Given the description of an element on the screen output the (x, y) to click on. 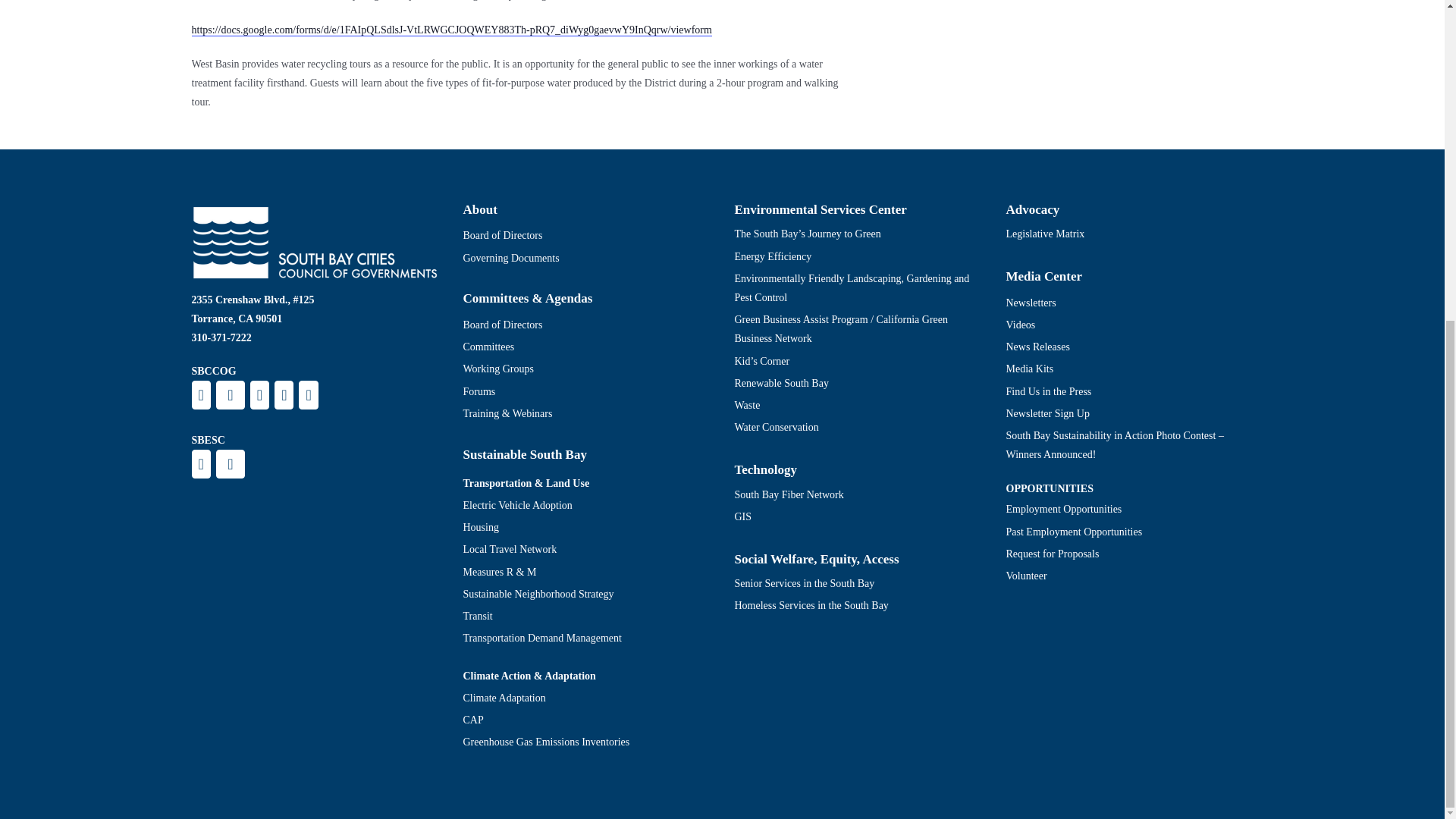
Twitter (229, 394)
